Given the description of an element on the screen output the (x, y) to click on. 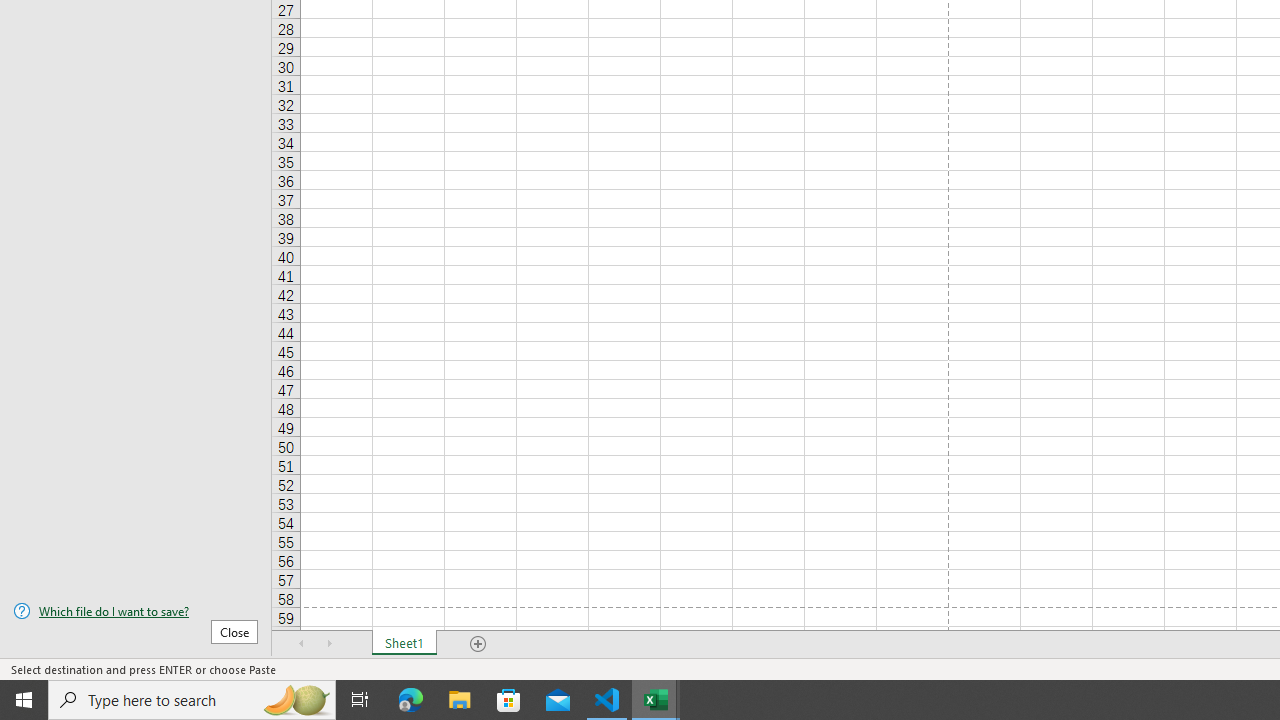
Excel - 2 running windows (656, 699)
File Explorer (460, 699)
